Given the description of an element on the screen output the (x, y) to click on. 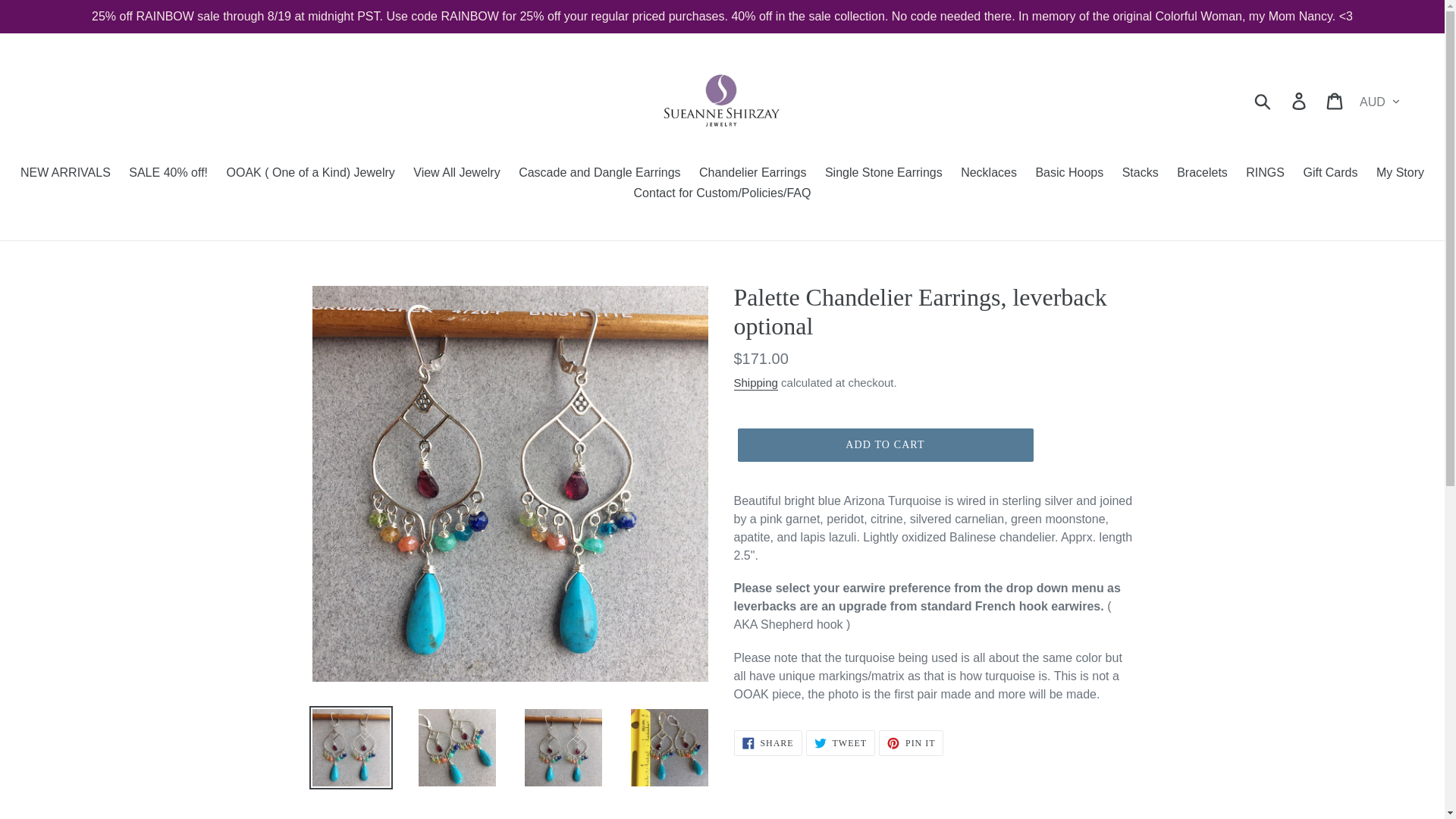
NEW ARRIVALS (65, 173)
Chandelier Earrings (752, 173)
Necklaces (989, 173)
Single Stone Earrings (883, 173)
Log in (1299, 100)
RINGS (1265, 173)
Bracelets (1201, 173)
Basic Hoops (1068, 173)
Stacks (1140, 173)
Cart (1335, 100)
